Given the description of an element on the screen output the (x, y) to click on. 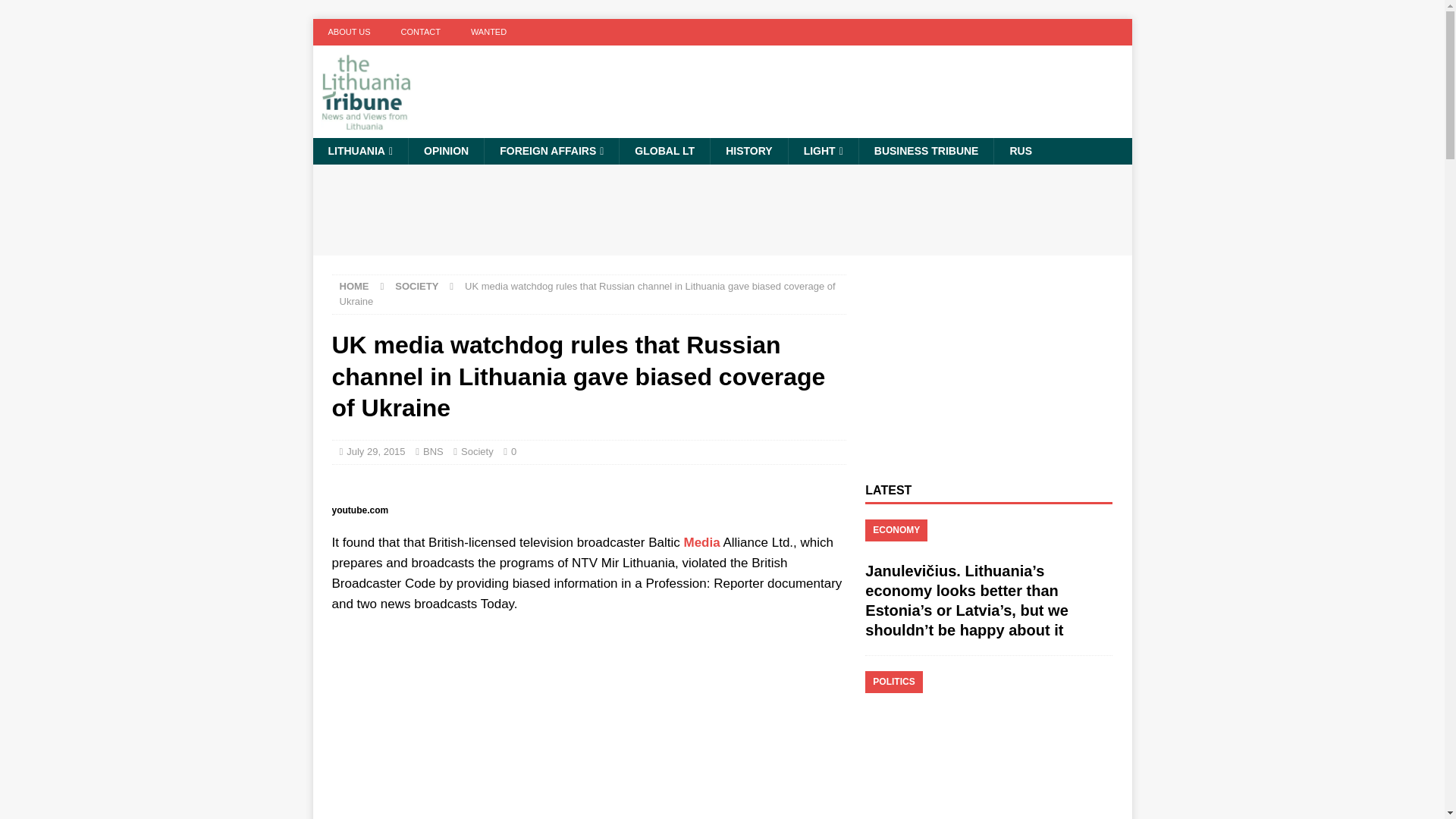
WANTED (488, 31)
CONTACT (420, 31)
LITHUANIA (360, 150)
ABOUT US (349, 31)
Media (700, 542)
